Given the description of an element on the screen output the (x, y) to click on. 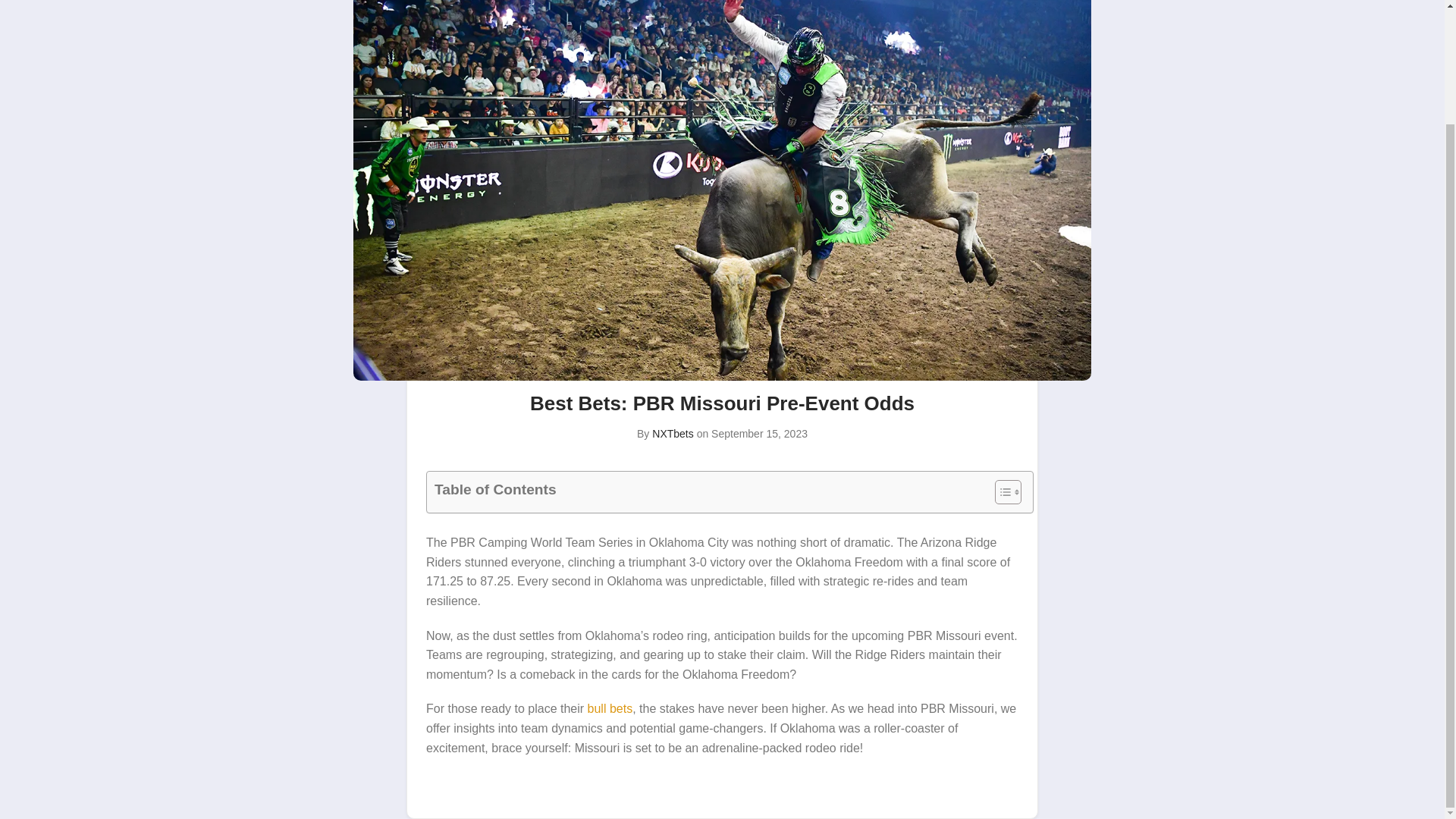
Posts by NXTbets (672, 433)
